Given the description of an element on the screen output the (x, y) to click on. 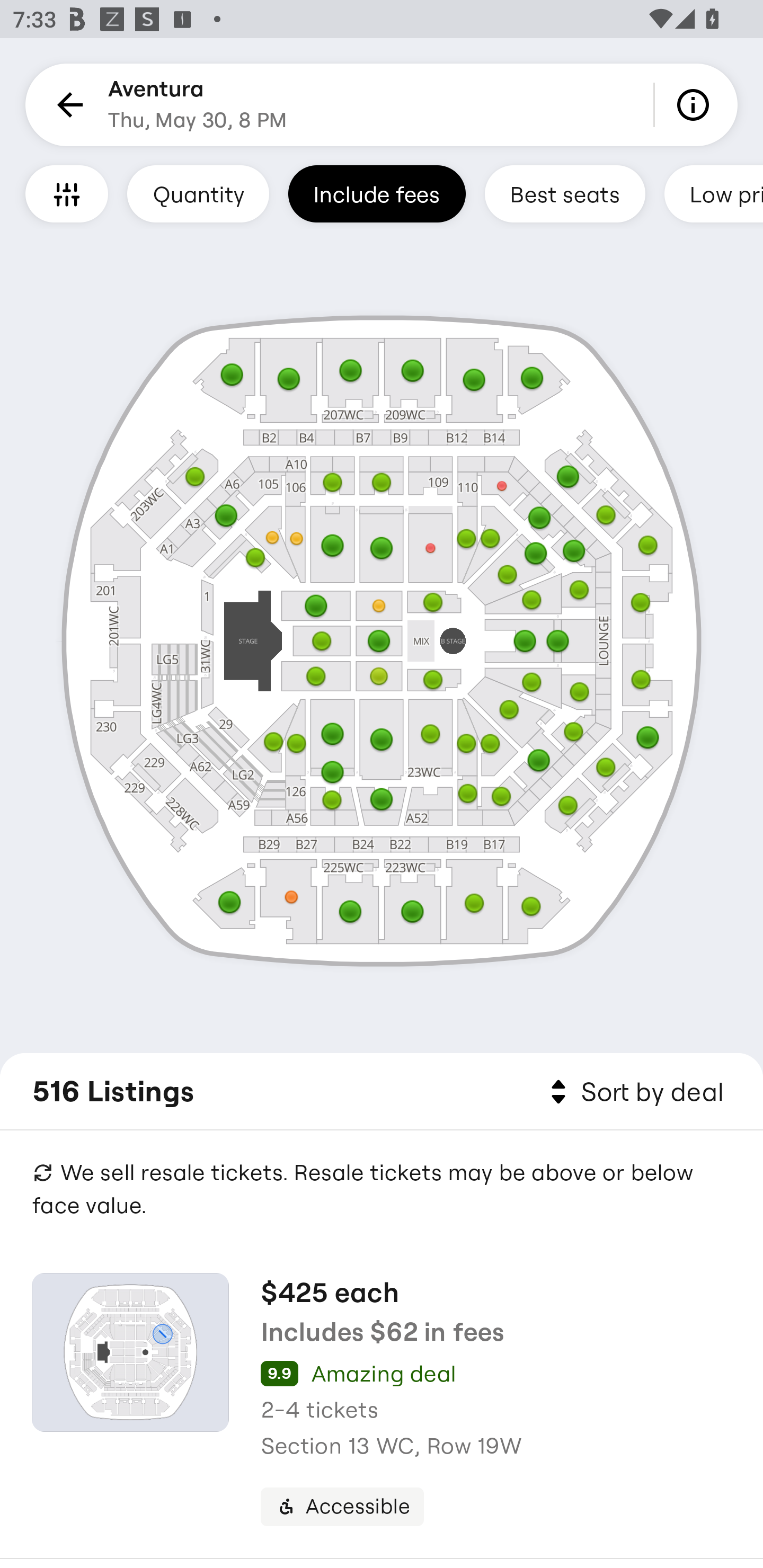
Back (66, 104)
Aventura Thu, May 30, 8 PM (197, 104)
Info (695, 104)
Filters and Accessible Seating (66, 193)
Quantity (198, 193)
Include fees (376, 193)
Best seats (564, 193)
Sort by deal (633, 1091)
